Given the description of an element on the screen output the (x, y) to click on. 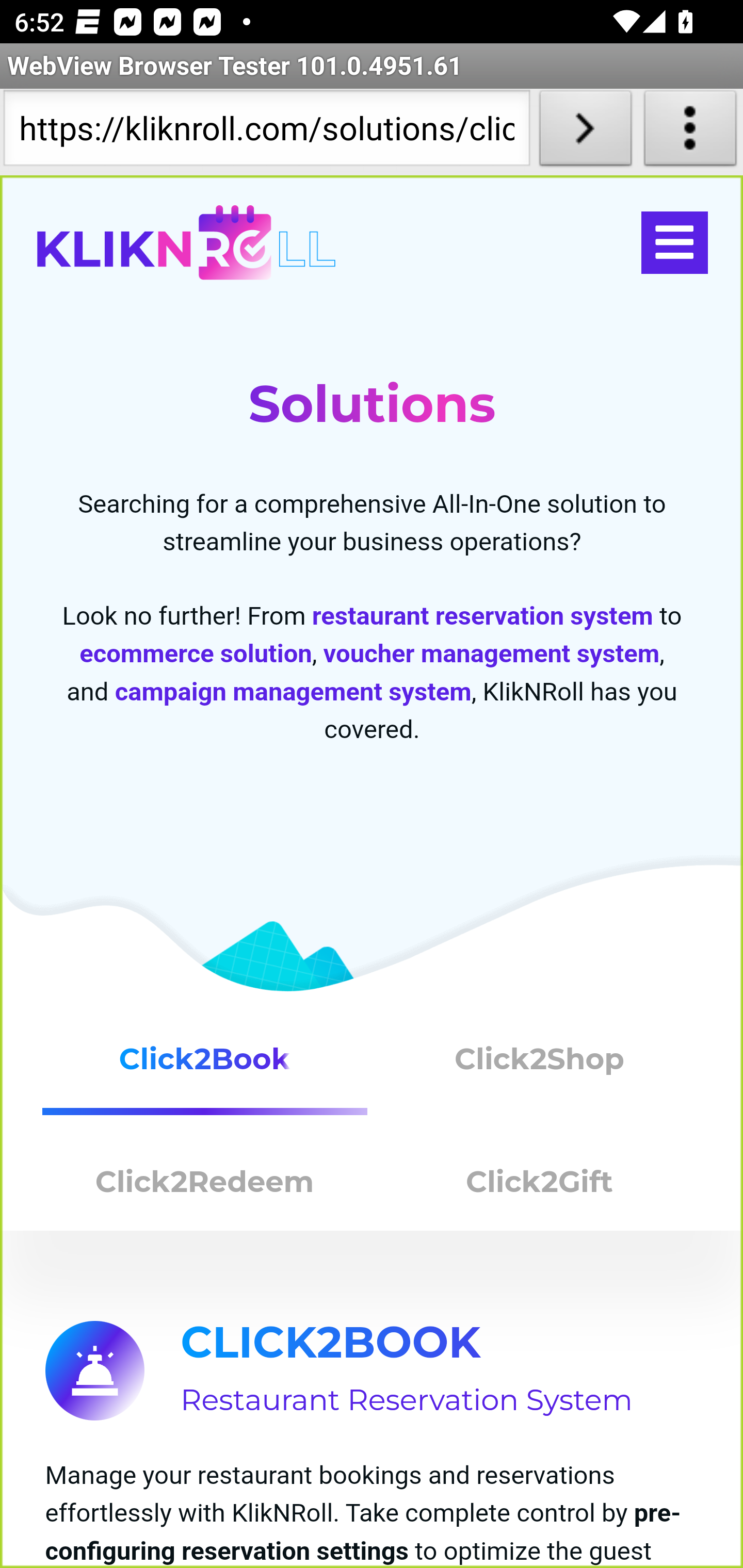
https://kliknroll.com/solutions/click2book/ (266, 132)
Load URL (585, 132)
About WebView (690, 132)
kliknroll (185, 242)
 (673, 242)
Click2Book (204, 1066)
Click2Shop (540, 1066)
Click2Redeem (204, 1185)
Click2Gift (540, 1185)
